Given the description of an element on the screen output the (x, y) to click on. 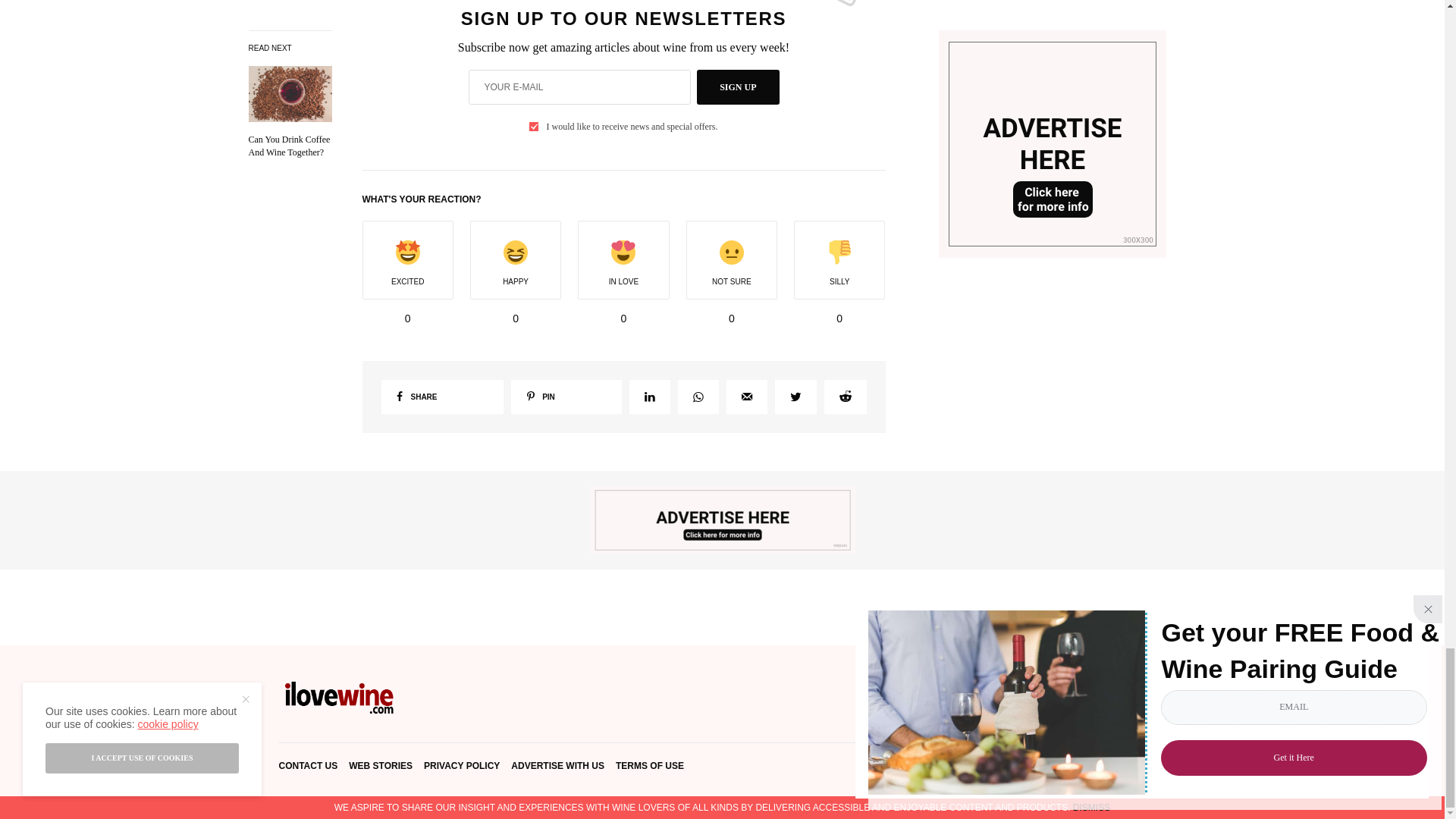
I Love Wine (339, 697)
